Given the description of an element on the screen output the (x, y) to click on. 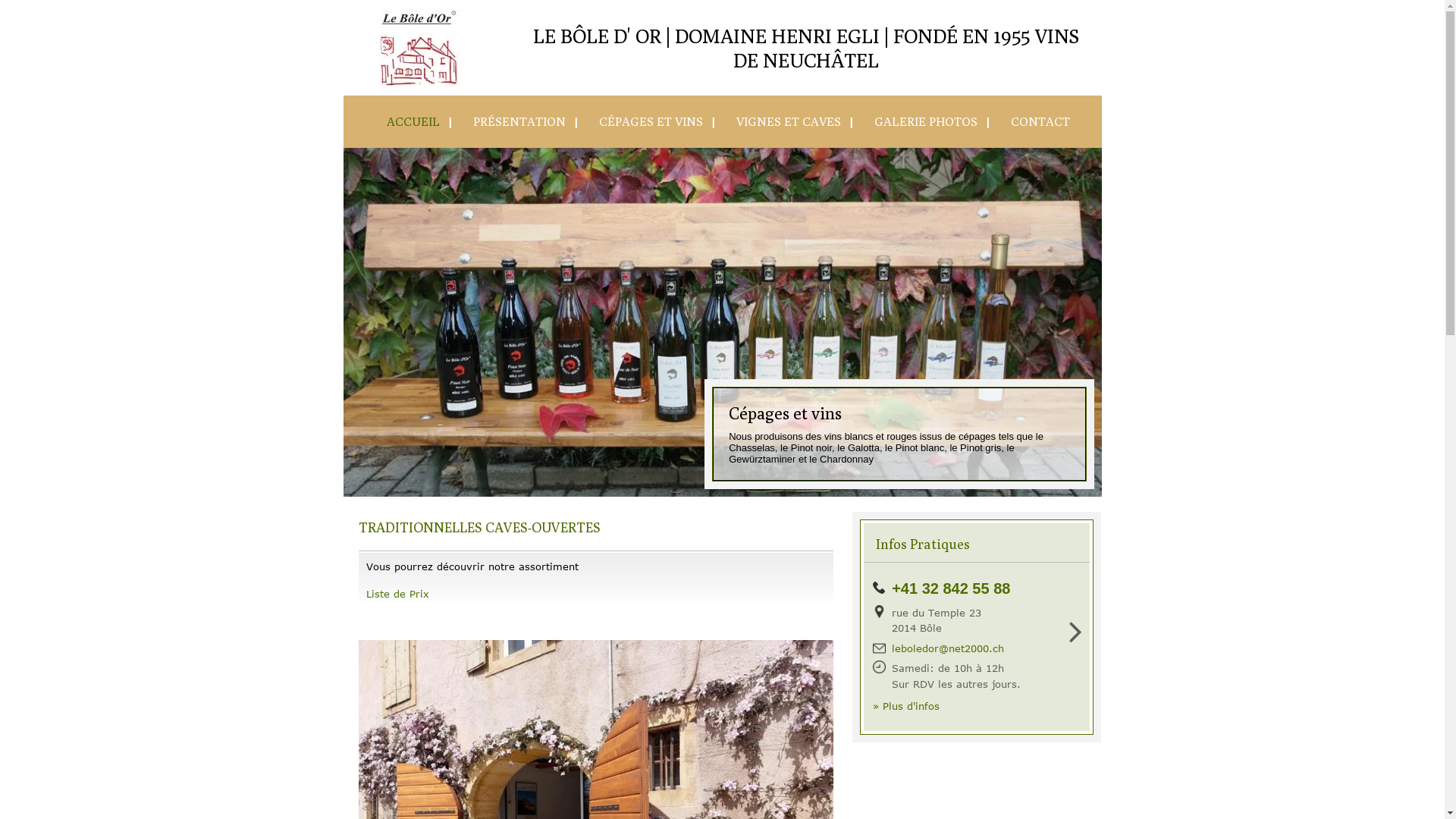
ACCUEIL Element type: text (407, 121)
CONTACT Element type: text (1034, 121)
VIGNES ET CAVES Element type: text (782, 121)
+41 32 842 55 88 Element type: text (950, 588)
Liste de Prix Element type: text (396, 593)
leboledor@net2000.ch Element type: text (947, 648)
GALERIE PHOTOS Element type: text (919, 121)
